Given the description of an element on the screen output the (x, y) to click on. 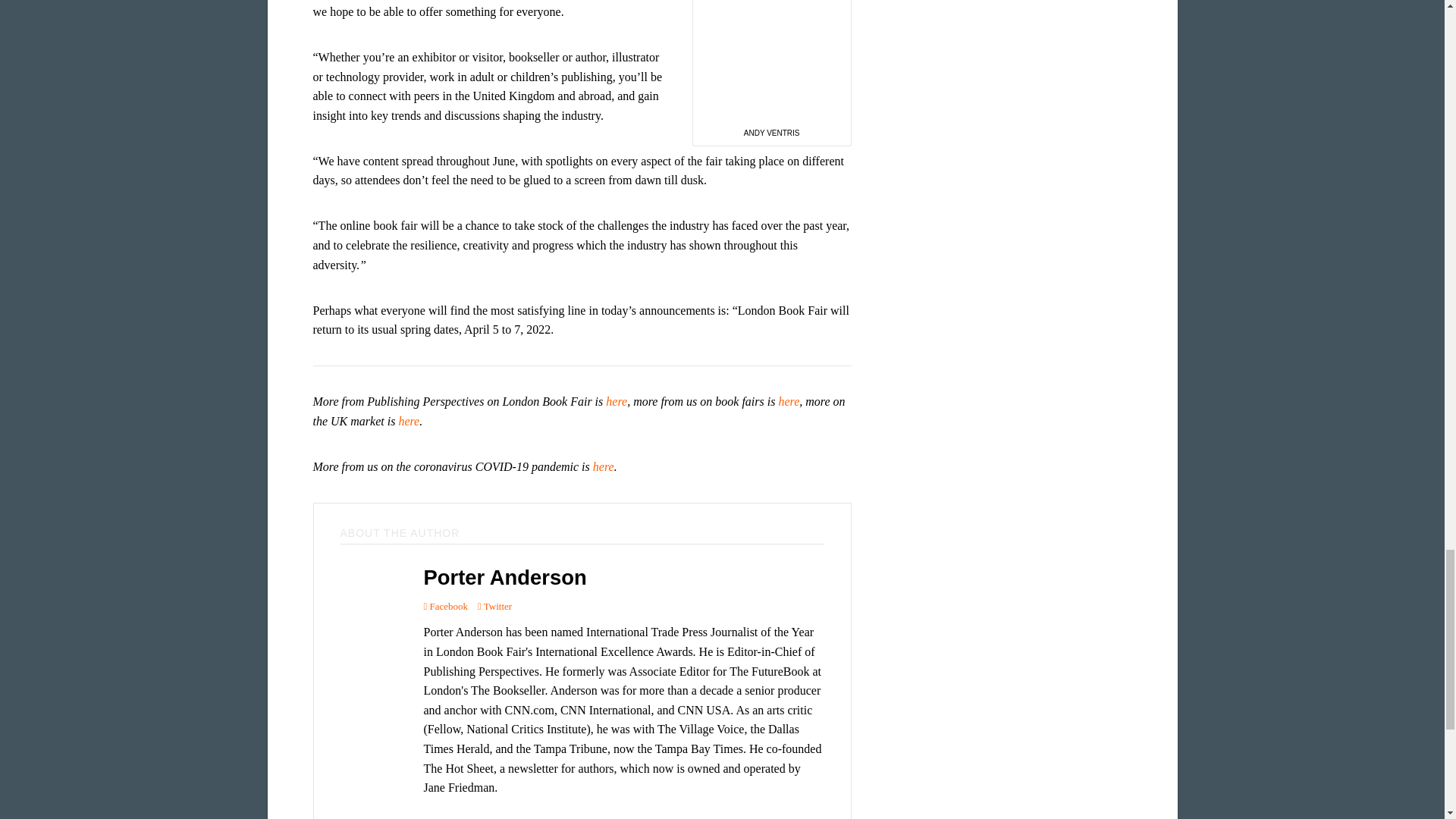
Visit the Facebook Profile for Porter Anderson (445, 606)
Visit the Twitter Profile for Porter Anderson (494, 606)
